Given the description of an element on the screen output the (x, y) to click on. 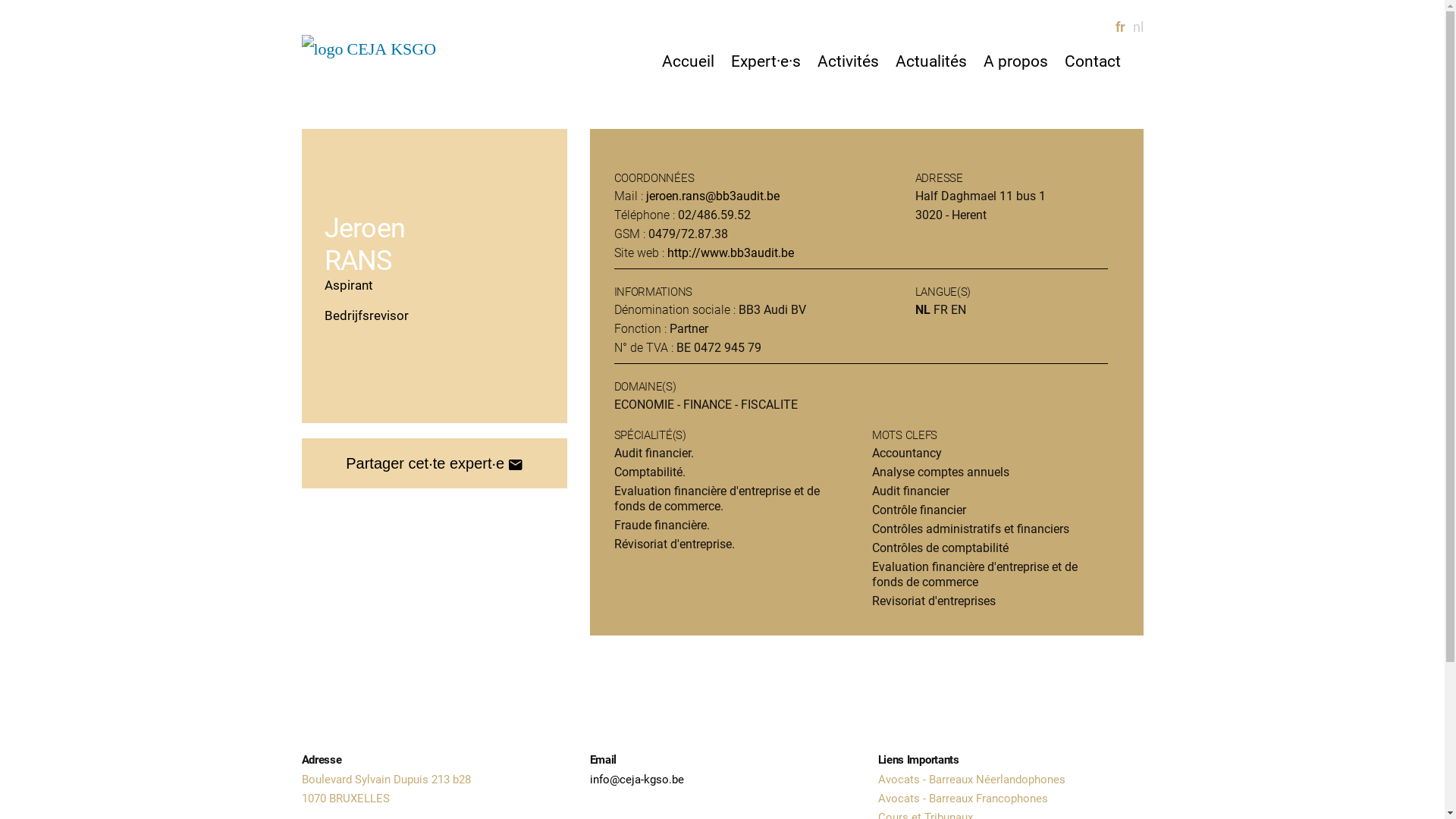
Avocats - Barreaux Francophones Element type: text (963, 798)
Accueil Element type: text (687, 61)
nl Element type: text (1137, 27)
info@ceja-kgso.be Element type: text (636, 779)
Contact Element type: text (1092, 61)
jeroen.rans@bb3audit.be Element type: text (712, 195)
A propos Element type: text (1014, 61)
http://www.bb3audit.be Element type: text (730, 252)
fr Element type: text (1119, 27)
